Given the description of an element on the screen output the (x, y) to click on. 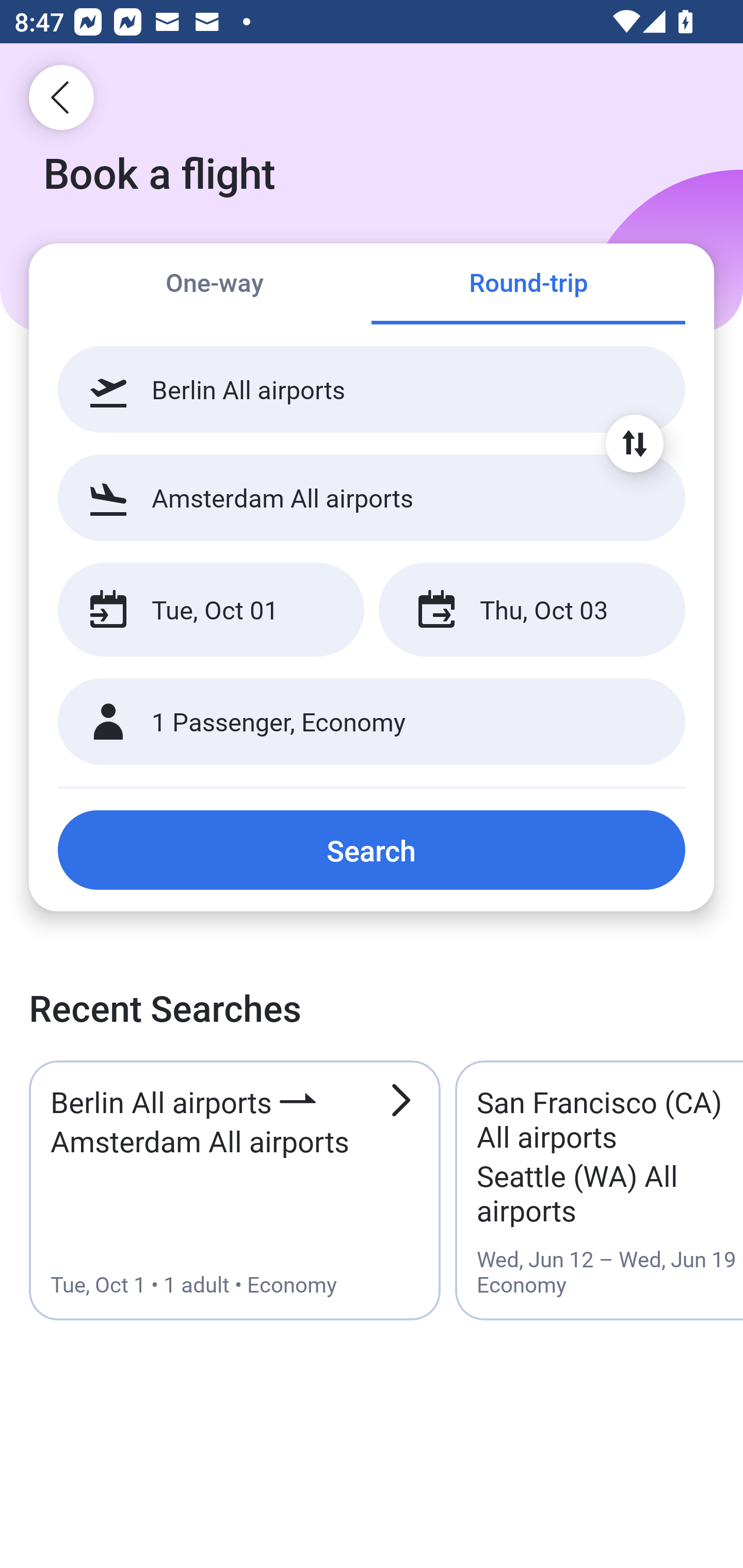
One-way (214, 284)
Berlin All airports (371, 389)
Amsterdam All airports (371, 497)
Tue, Oct 01 (210, 609)
Thu, Oct 03 (531, 609)
1 Passenger, Economy (371, 721)
Search (371, 849)
